Given the description of an element on the screen output the (x, y) to click on. 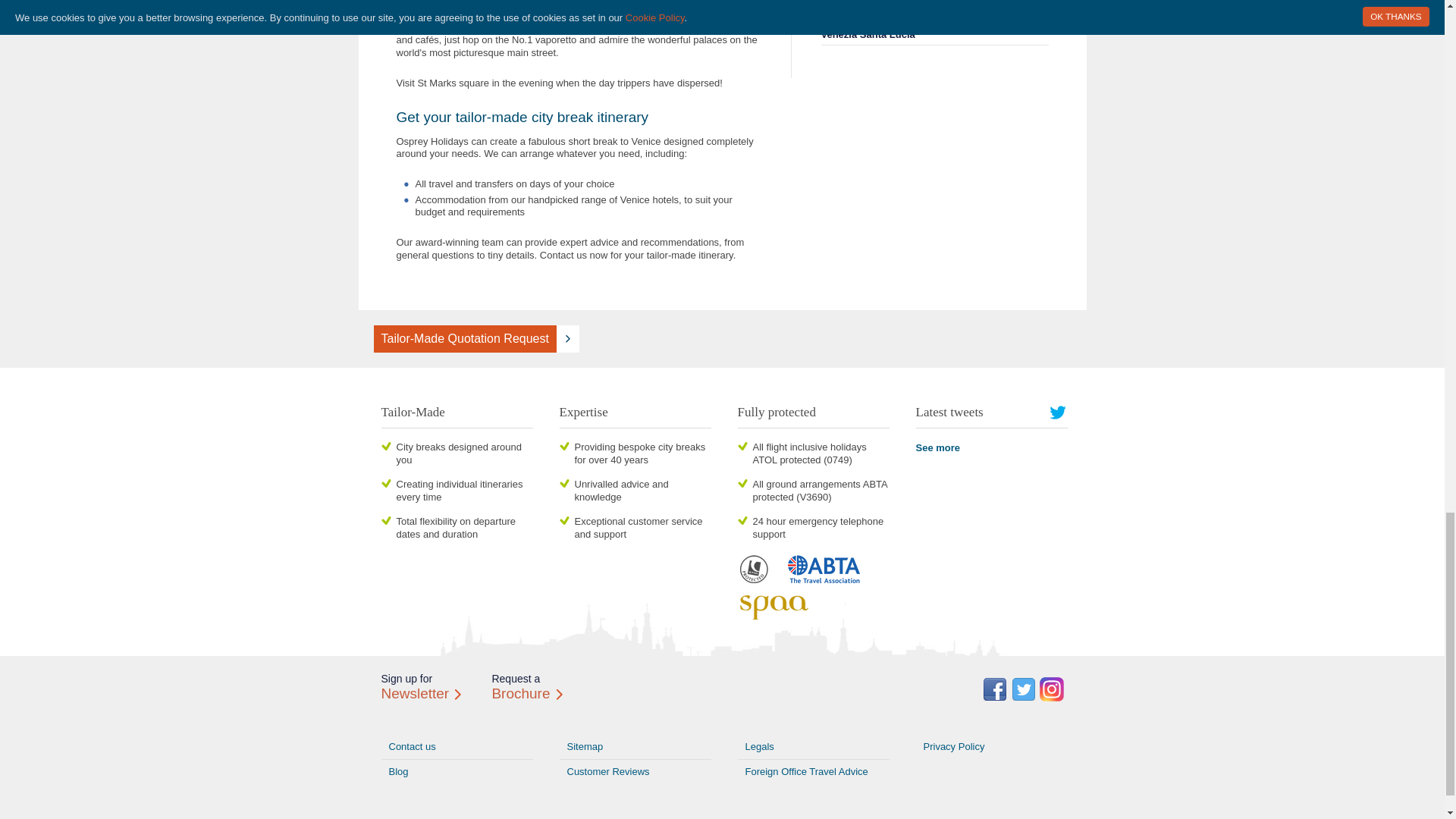
Customer Reviews (635, 771)
SPAA (772, 614)
Legals (812, 747)
ABTA (823, 577)
Foreign Office Travel Advice (812, 771)
Contact us (456, 747)
Blog (456, 771)
ATOL (753, 577)
Sitemap (635, 747)
Privacy Policy (991, 747)
